Given the description of an element on the screen output the (x, y) to click on. 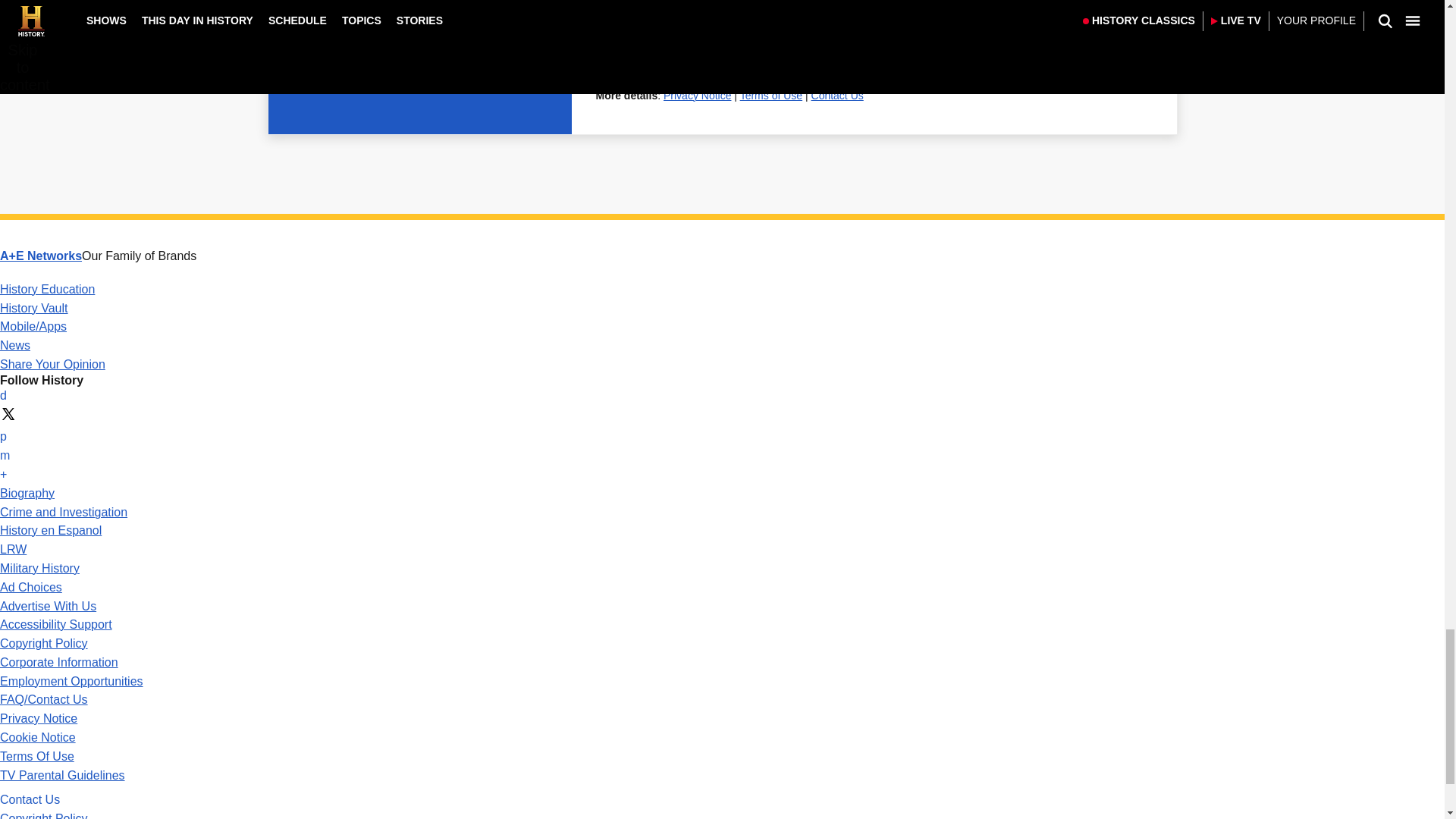
Visit Biography (27, 492)
Visit Employment Opportunities (71, 680)
Visit History Vault (34, 308)
Visit Accessibility Support (56, 624)
Visit History en Espanol (50, 530)
Visit Advertise With Us (48, 604)
Visit LRW (13, 549)
Visit History Education (47, 288)
Visit Copyright Policy (43, 643)
Visit Military History (40, 567)
